Given the description of an element on the screen output the (x, y) to click on. 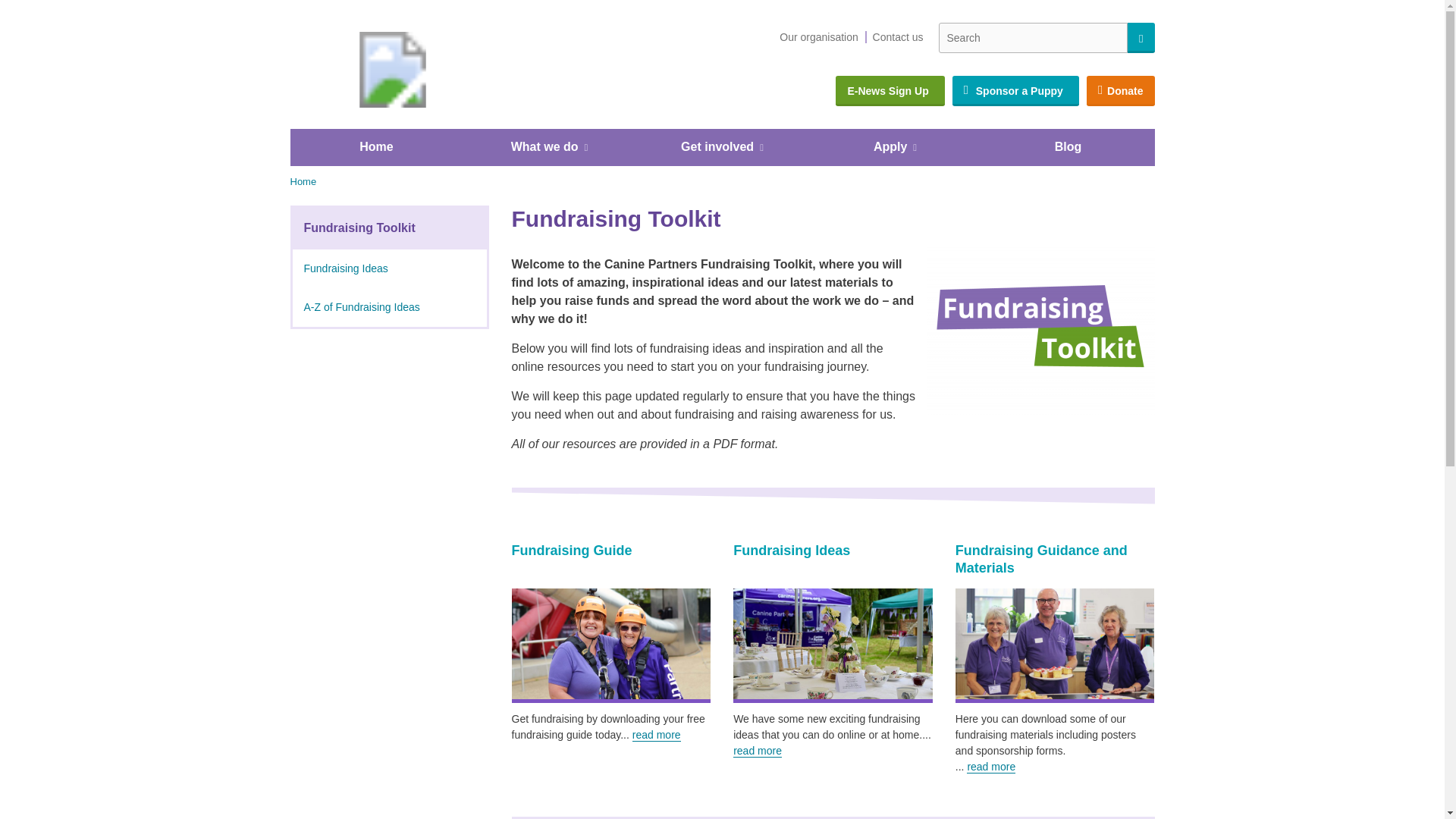
Get involved (721, 147)
Read more (757, 750)
Our organisation (818, 37)
Sponsor a Puppy (1015, 91)
Donate (1120, 91)
Sponsor a Puppy (1015, 91)
Fundraising Guide (571, 550)
Donate (1120, 91)
Contact us (897, 37)
Fundraising Guide (610, 646)
